Given the description of an element on the screen output the (x, y) to click on. 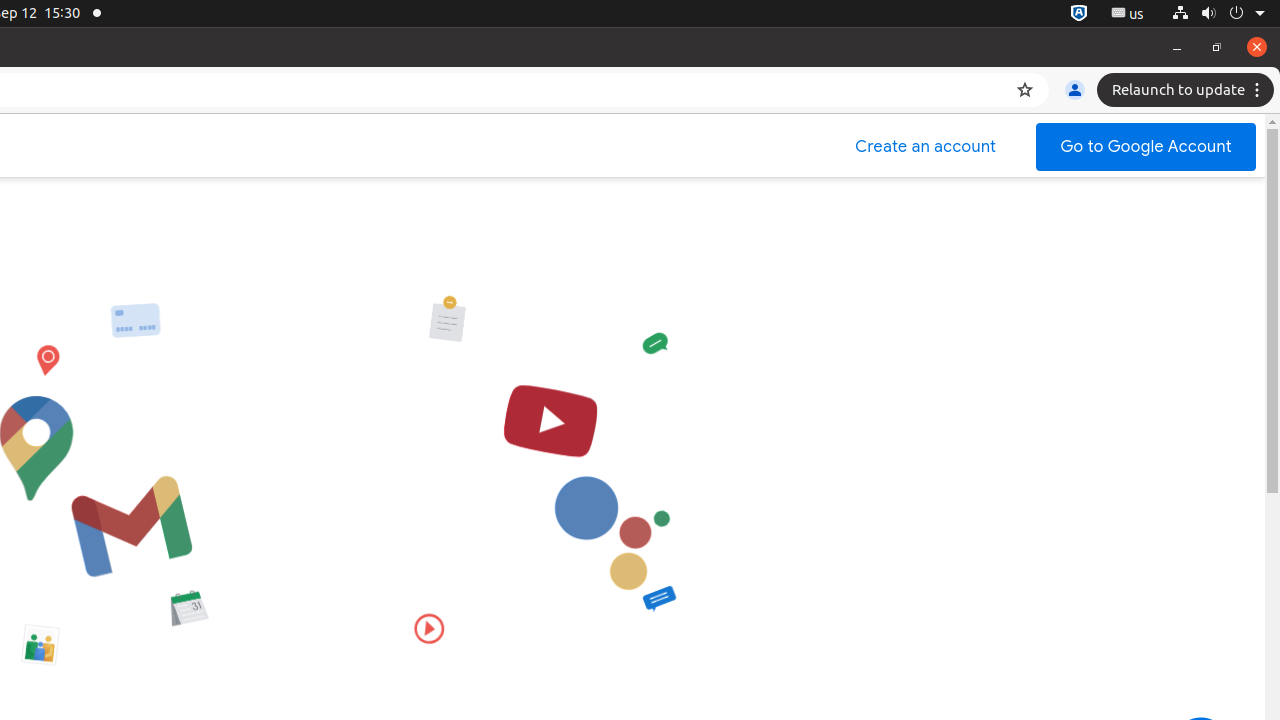
System Element type: menu (1218, 13)
Go to your Google Account Element type: link (1146, 147)
Bookmark this tab Element type: push-button (1025, 90)
